Given the description of an element on the screen output the (x, y) to click on. 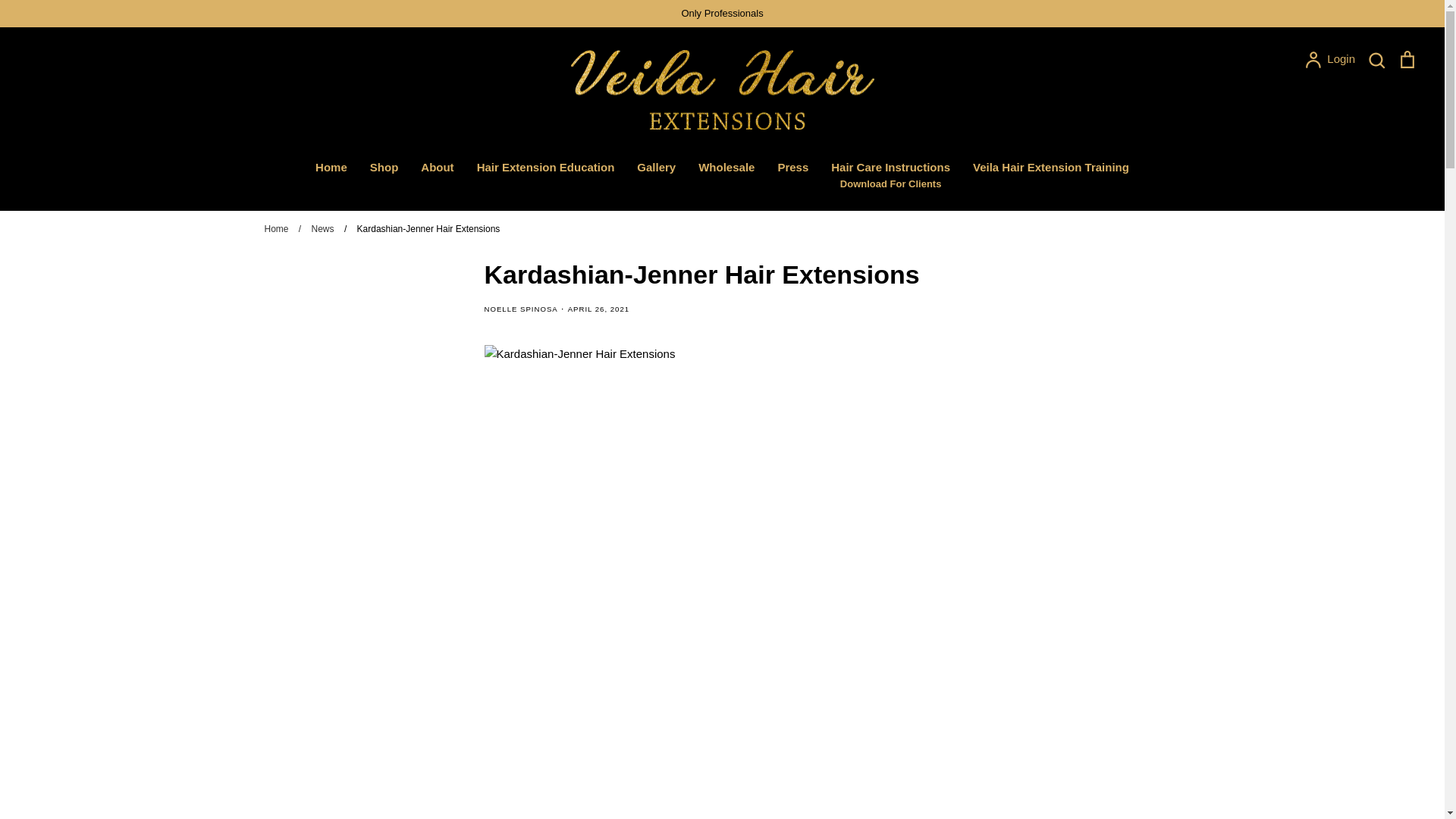
Search (1376, 59)
Hair Extension Education (545, 166)
Cart (1406, 59)
Home (331, 166)
Shop (383, 166)
Gallery (656, 166)
Wholesale (1329, 59)
About (726, 166)
